Given the description of an element on the screen output the (x, y) to click on. 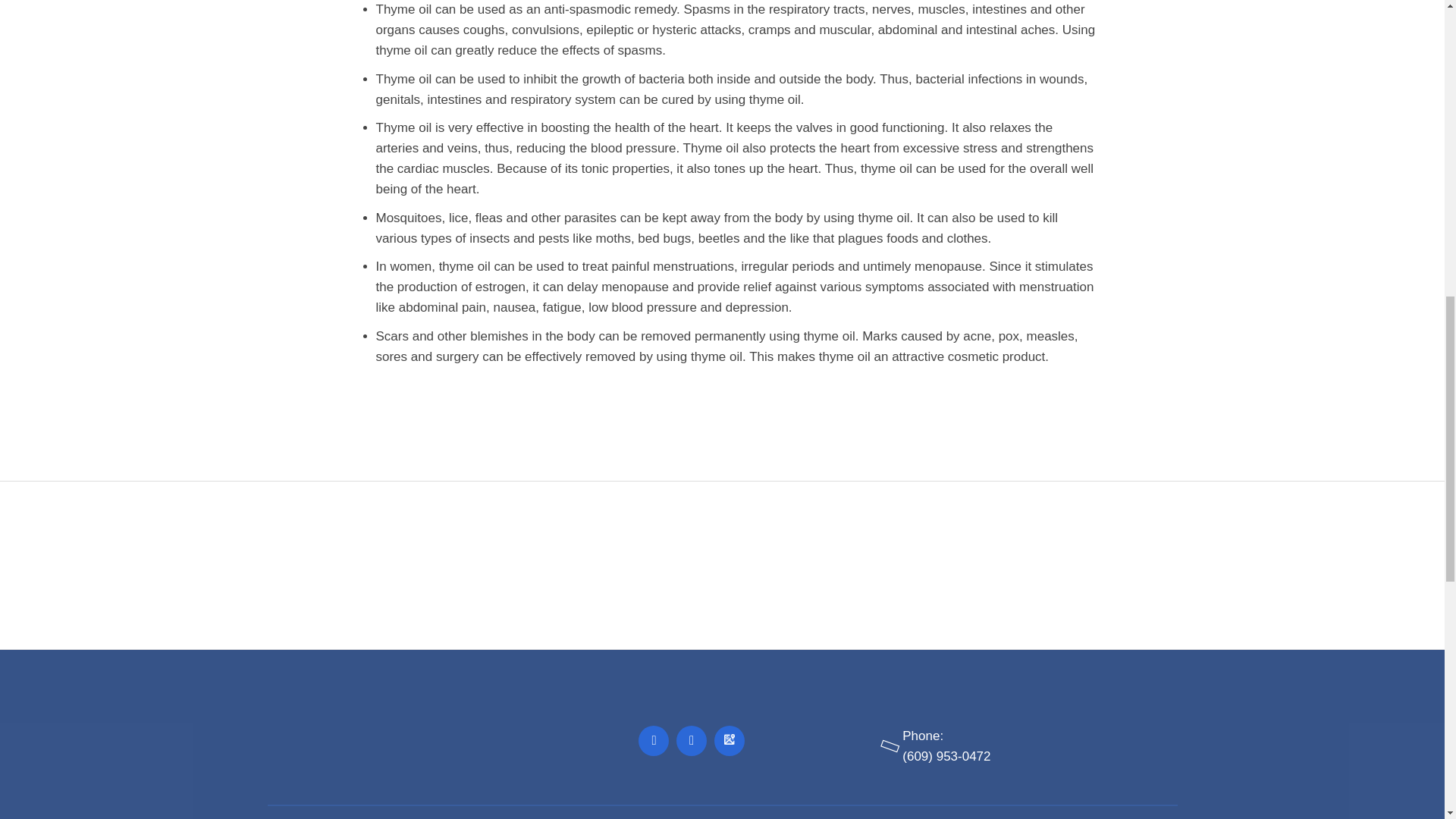
Wood Flooring (907, 565)
Surface Care PRO Partner. Click to verify. (536, 564)
MB-Certified-Pro (778, 564)
Facebook (653, 740)
Yelp (691, 740)
Google Map (729, 740)
